Given the description of an element on the screen output the (x, y) to click on. 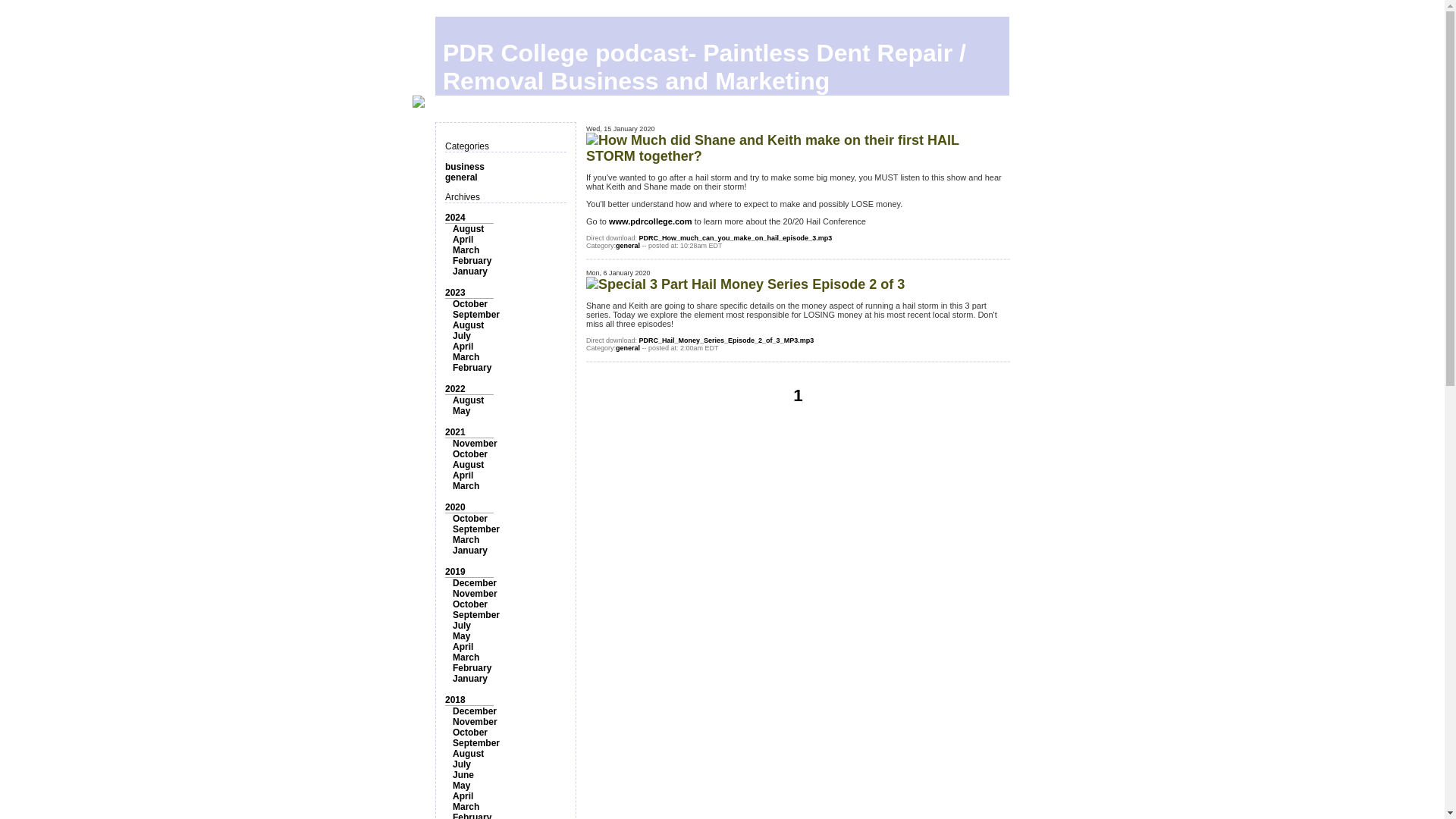
October (469, 453)
December (474, 583)
September (475, 614)
February (472, 367)
July (461, 335)
September (475, 314)
January (469, 271)
general (461, 176)
April (462, 475)
March (465, 249)
